Given the description of an element on the screen output the (x, y) to click on. 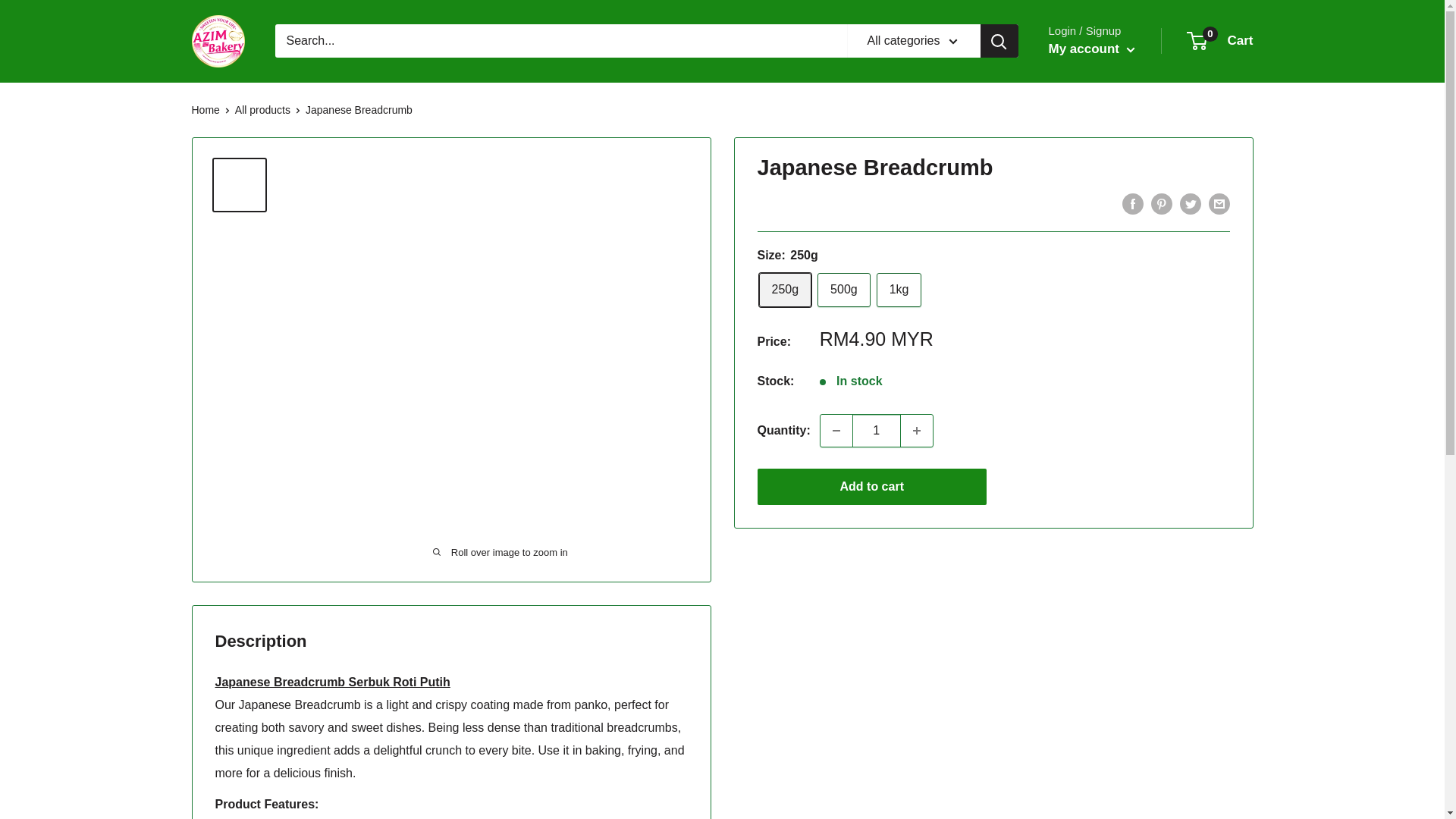
1kg (898, 289)
My account (1091, 48)
All products (261, 109)
1 (876, 430)
Azim Bakery - Shop Online (217, 41)
250g (1220, 40)
500g (784, 289)
Home (843, 289)
Increase quantity by 1 (204, 109)
Decrease quantity by 1 (917, 430)
